Given the description of an element on the screen output the (x, y) to click on. 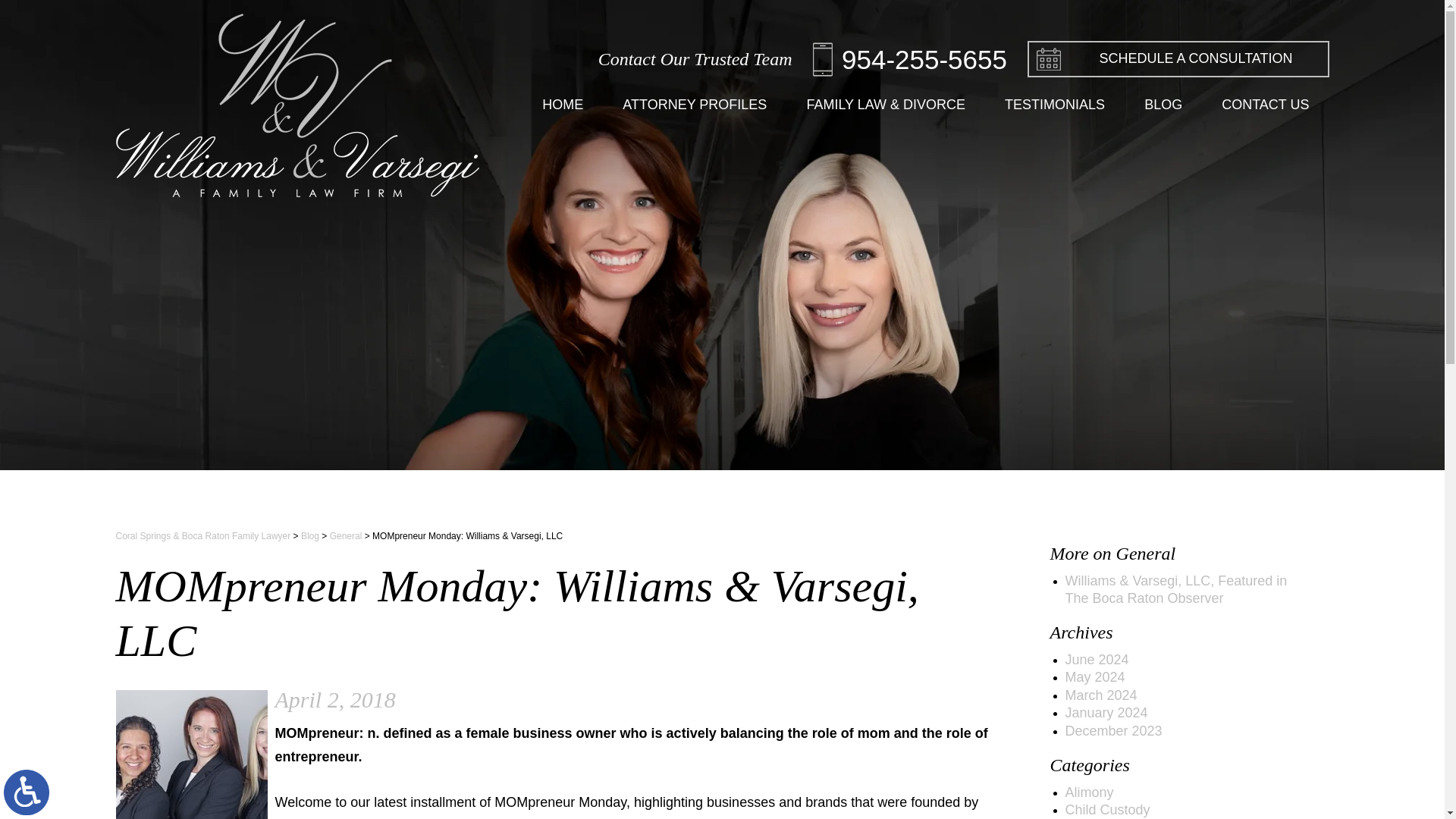
BLOG (1163, 104)
TESTIMONIALS (1054, 104)
Blog (309, 535)
HOME (562, 104)
ATTORNEY PROFILES (694, 104)
CONTACT US (1264, 104)
General (346, 535)
Switch to ADA Accessible Theme (26, 791)
KV57 (190, 754)
SCHEDULE A CONSULTATION (1177, 58)
954-255-5655 (909, 59)
